Given the description of an element on the screen output the (x, y) to click on. 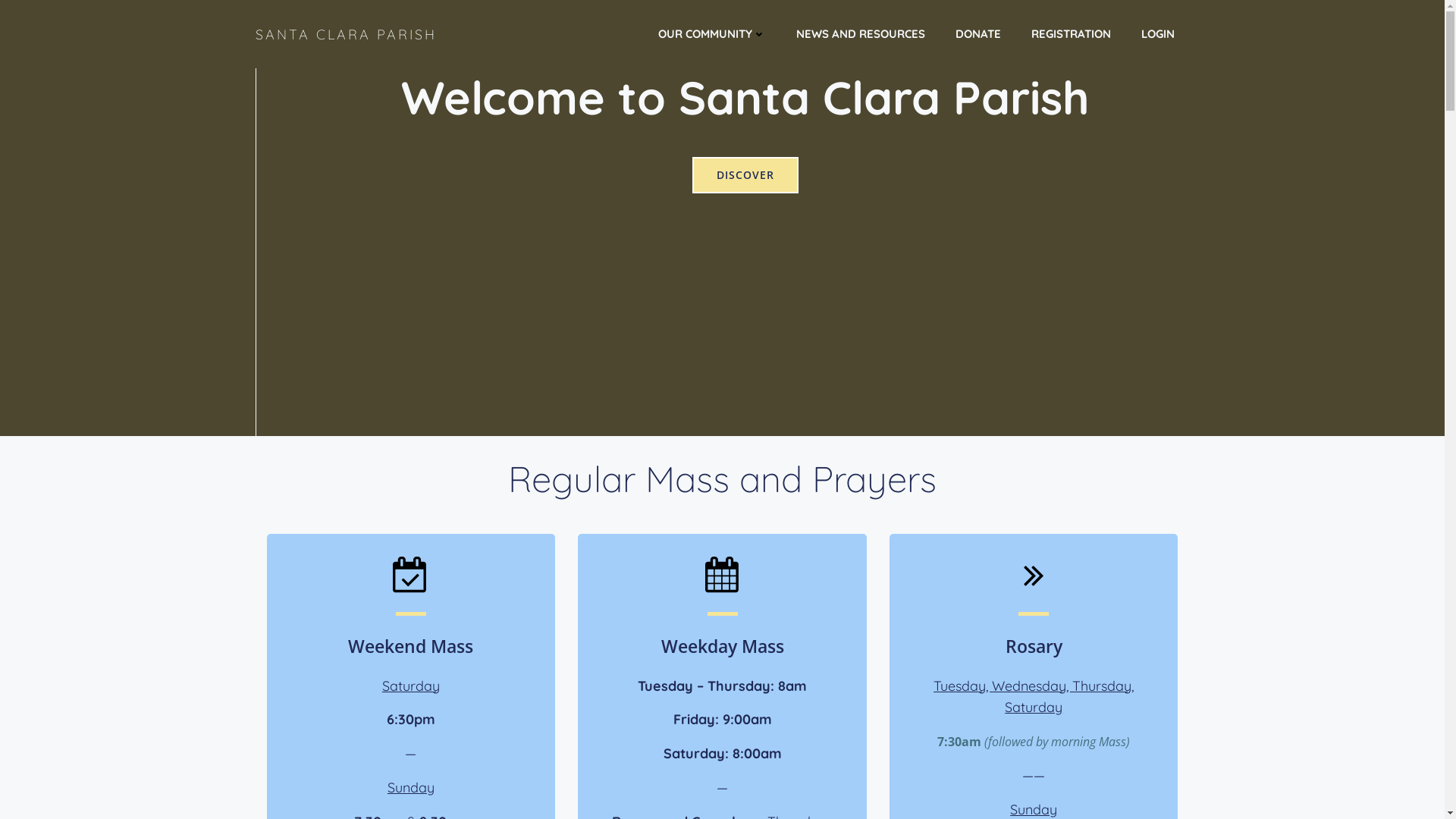
SANTA CLARA PARISH Element type: text (345, 34)
DISCOVER Element type: text (745, 174)
OUR COMMUNITY Element type: text (711, 34)
LOGIN Element type: text (1156, 34)
NEWS AND RESOURCES Element type: text (860, 34)
DONATE Element type: text (978, 34)
REGISTRATION Element type: text (1070, 34)
